Given the description of an element on the screen output the (x, y) to click on. 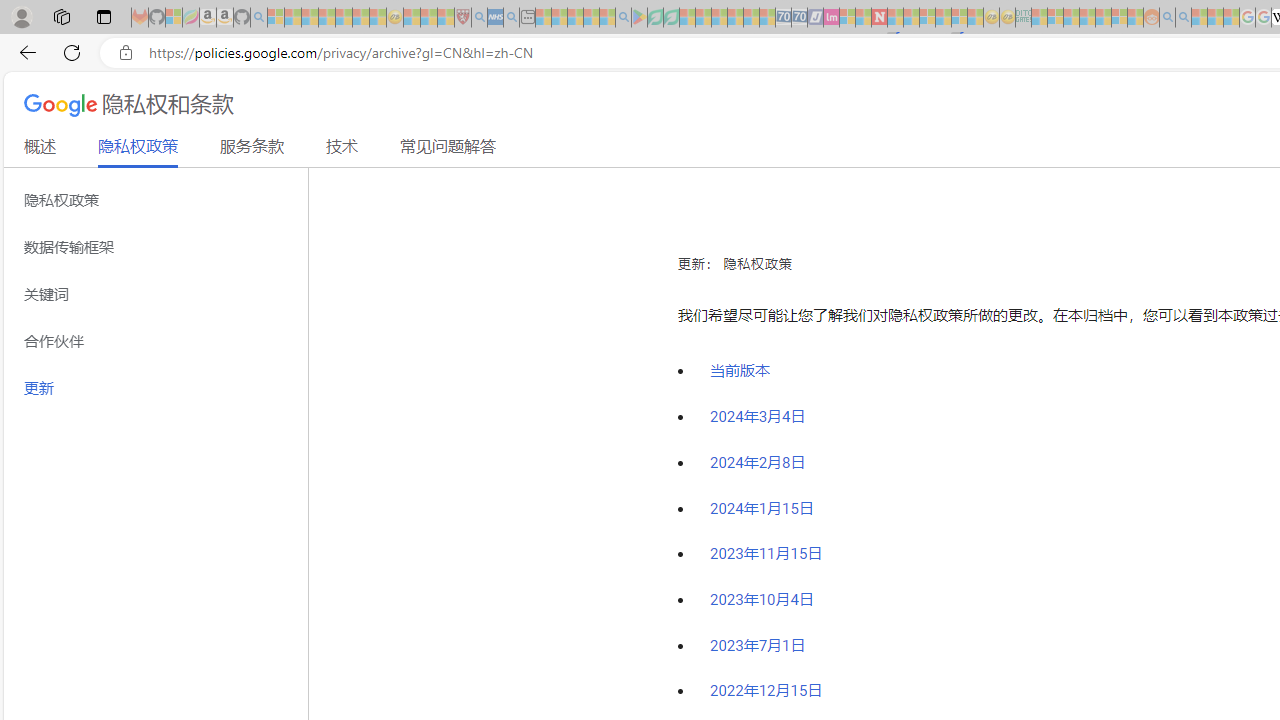
utah sues federal government - Search - Sleeping (511, 17)
google - Search - Sleeping (623, 17)
Local - MSN - Sleeping (445, 17)
Bluey: Let's Play! - Apps on Google Play - Sleeping (639, 17)
Latest Politics News & Archive | Newsweek.com - Sleeping (879, 17)
The Weather Channel - MSN - Sleeping (309, 17)
